Given the description of an element on the screen output the (x, y) to click on. 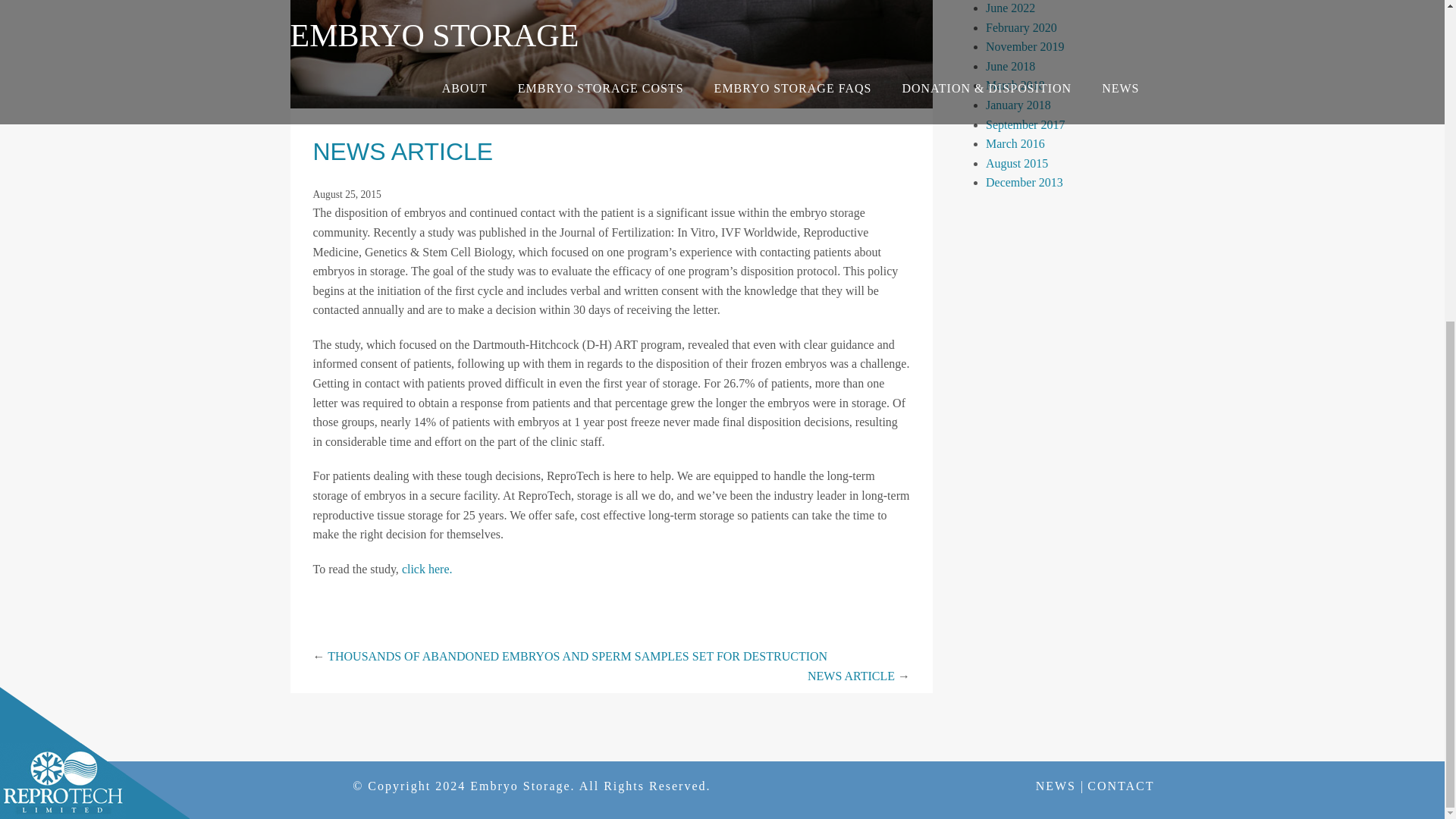
January 2018 (1018, 104)
CONTACT (1120, 785)
November 2019 (1024, 46)
December 2013 (1023, 182)
March 2016 (1015, 143)
March 2018 (1015, 84)
NEWS ARTICLE (403, 151)
NEWS ARTICLE (851, 675)
September 2017 (1024, 124)
